Given the description of an element on the screen output the (x, y) to click on. 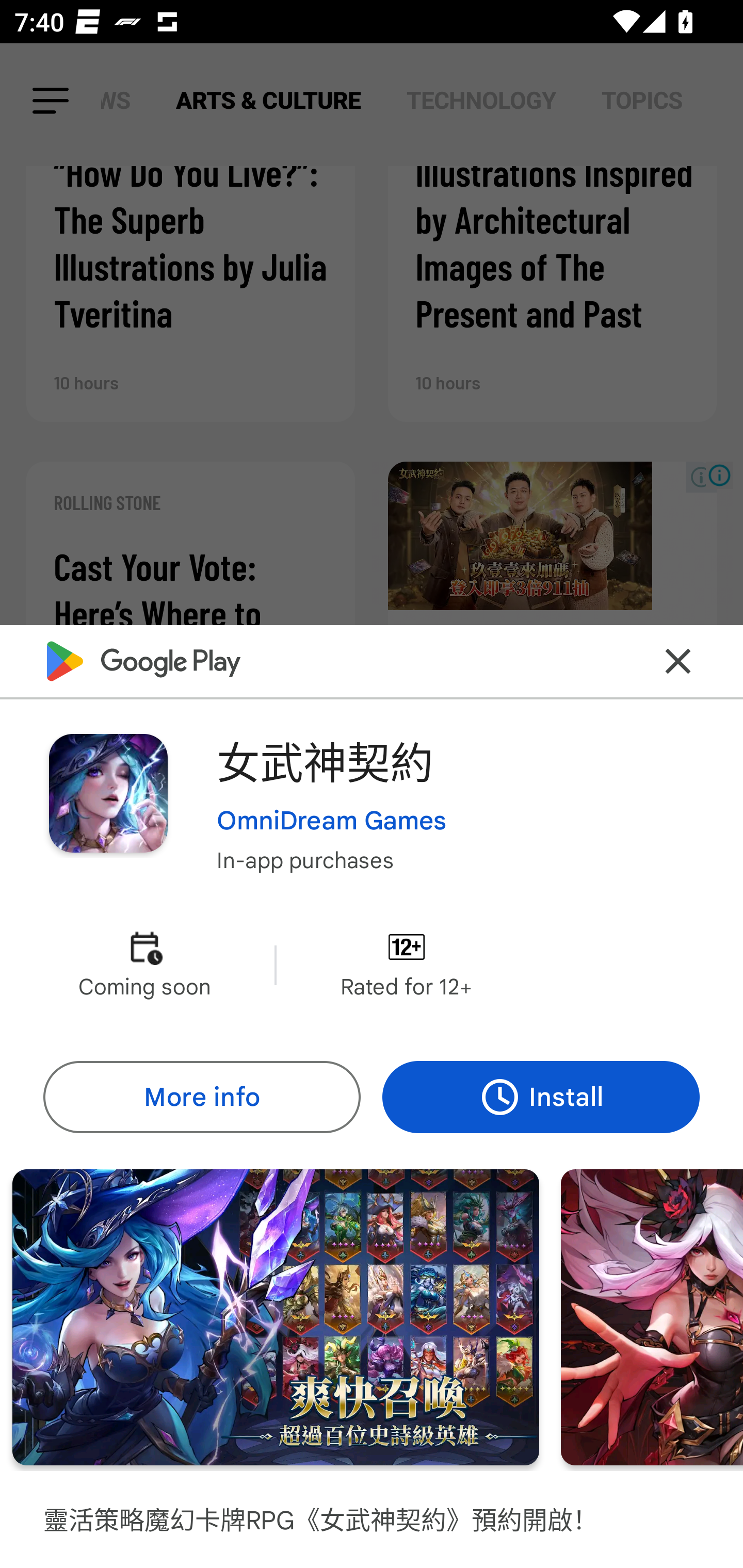
Close (677, 661)
Image of app or game icon for 女武神契約 (108, 792)
OmniDream Games (331, 820)
More info (201, 1097)
Install (540, 1097)
Screenshot "2" of "5" (275, 1317)
